Given the description of an element on the screen output the (x, y) to click on. 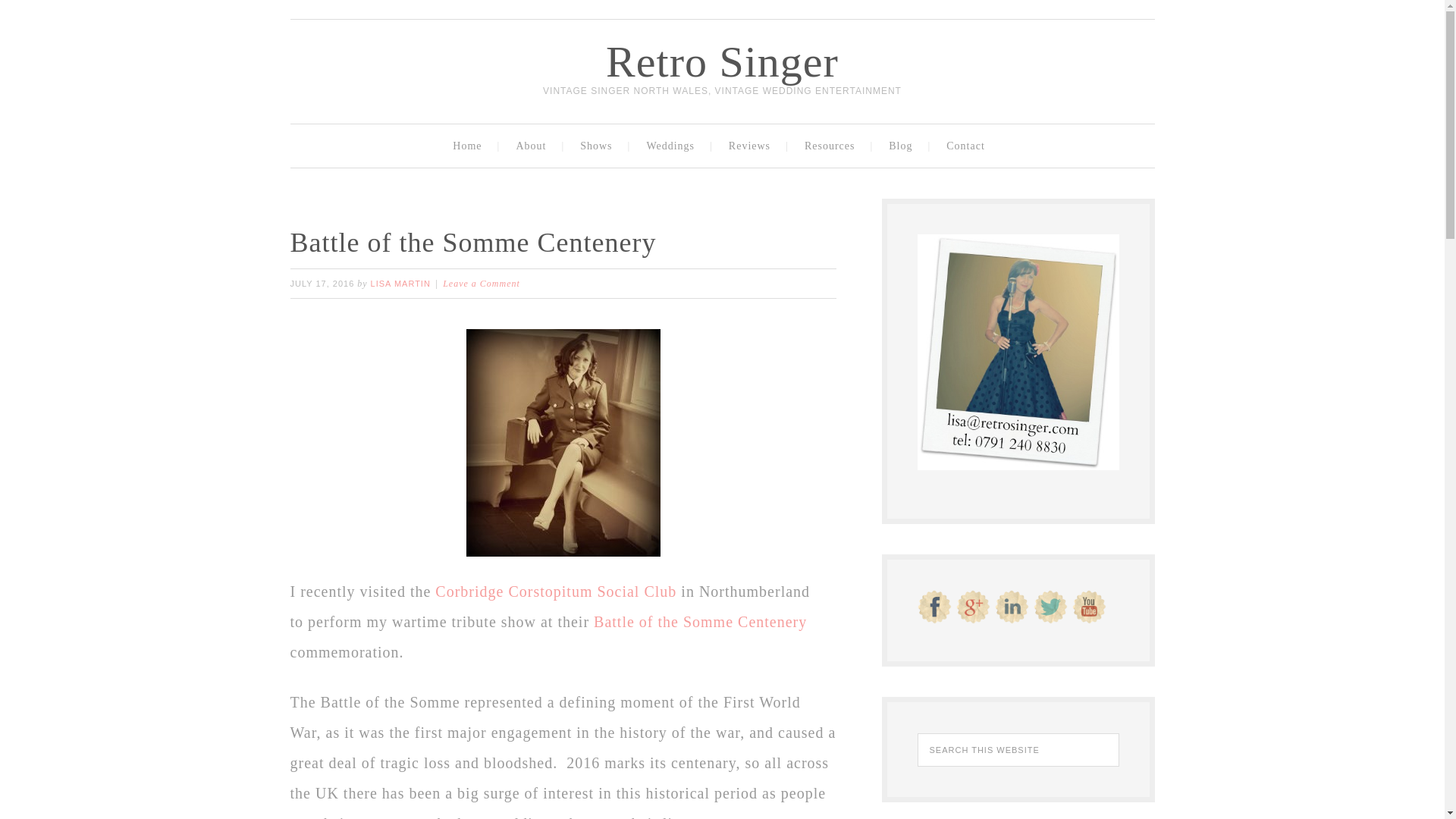
About (533, 145)
Contact (968, 145)
Home (470, 145)
Shows (599, 145)
Corbridge Corstopitum Social Club (558, 591)
Battle of the Somme Centenery (700, 621)
Blog (903, 145)
Weddings (672, 145)
Resources (832, 145)
LISA MARTIN (400, 283)
Leave a Comment (480, 283)
Reviews (753, 145)
